Given the description of an element on the screen output the (x, y) to click on. 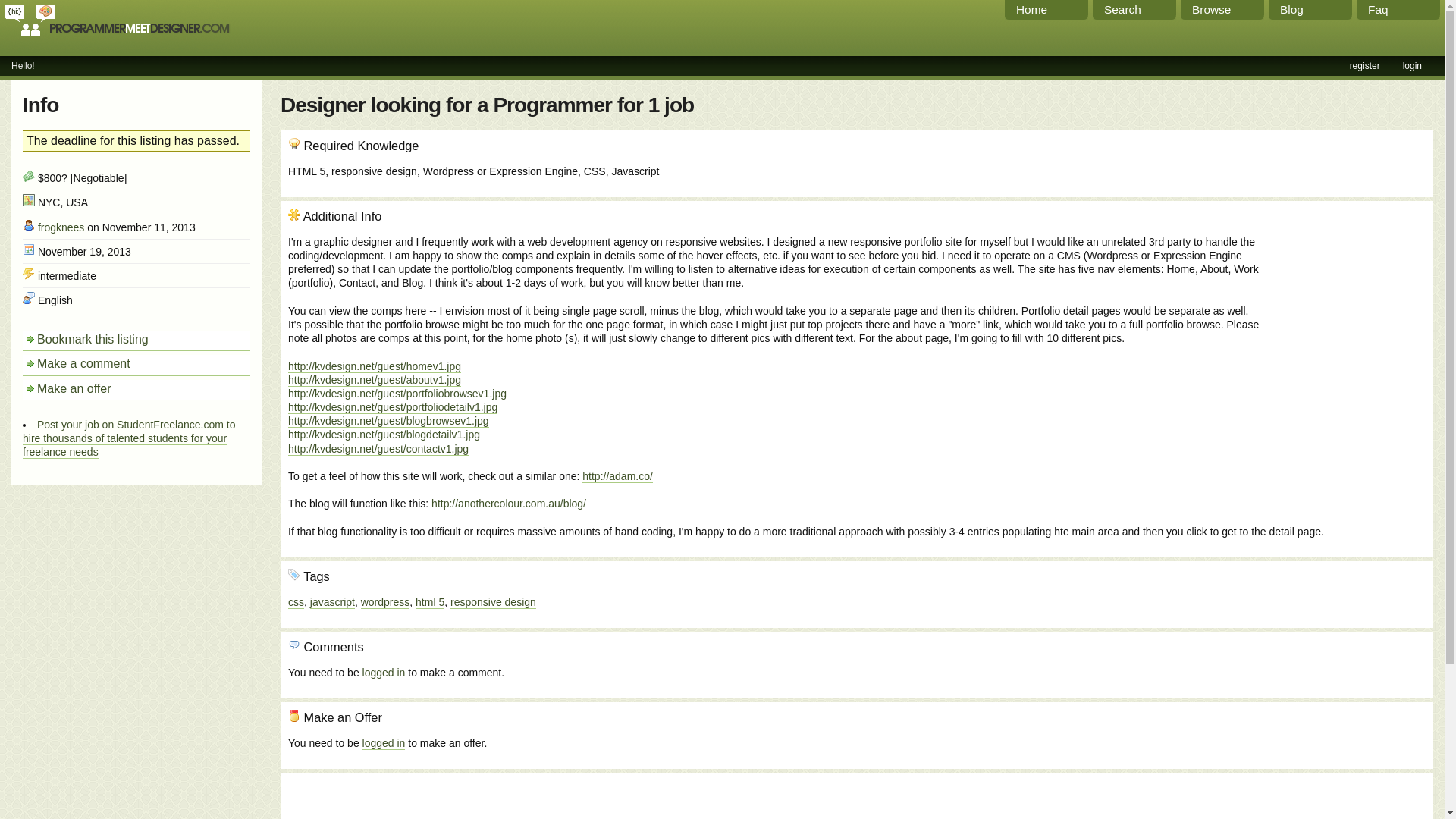
javascript (332, 597)
responsive design (492, 597)
Location (28, 200)
Home (1045, 9)
html 5 (429, 597)
Deadline (28, 249)
login (1411, 65)
Blog (1310, 9)
Search (1134, 9)
css (296, 597)
